Given the description of an element on the screen output the (x, y) to click on. 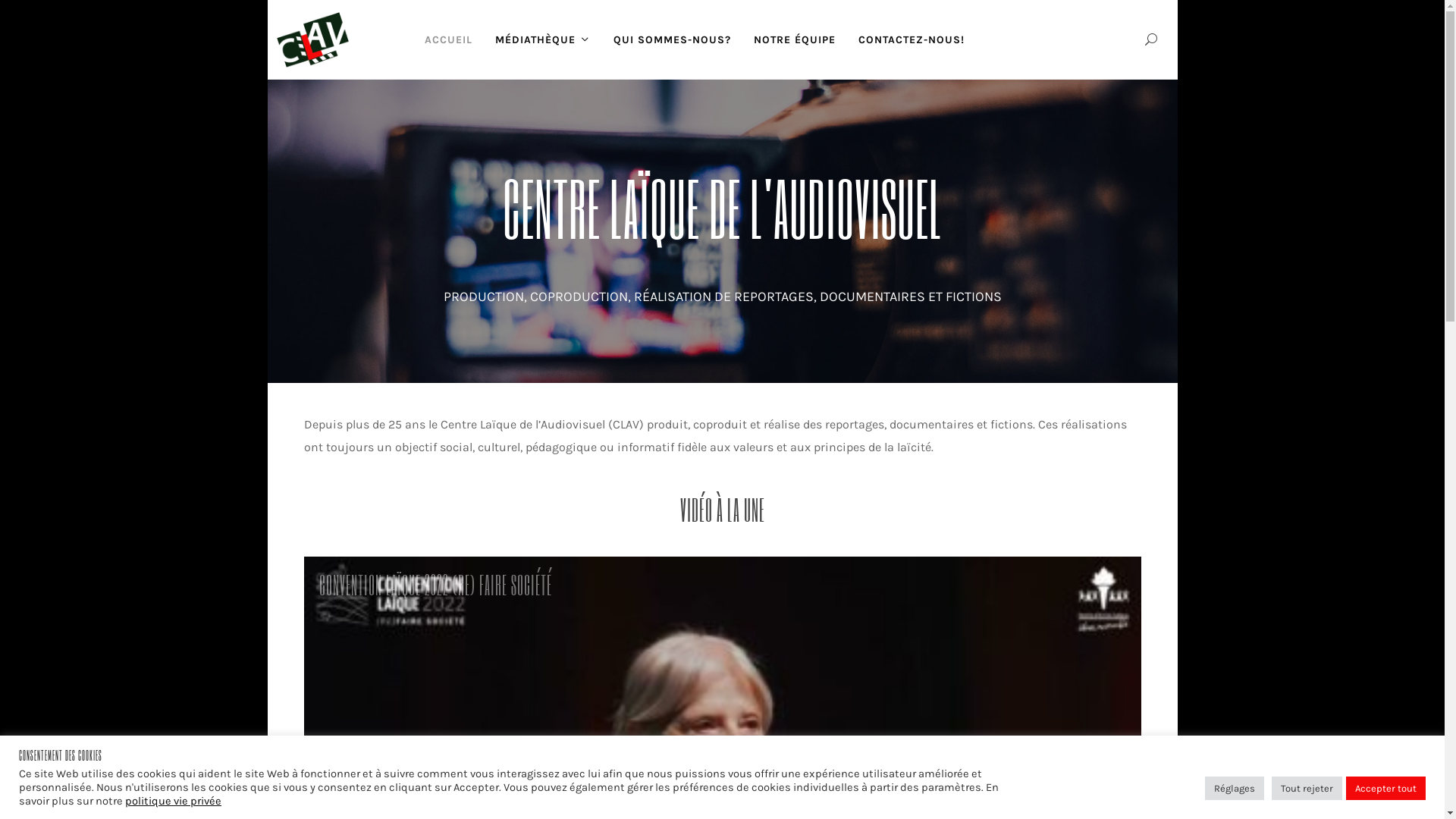
Accepter tout Element type: text (1385, 788)
CONTACTEZ-NOUS! Element type: text (910, 39)
Tout rejeter Element type: text (1306, 788)
ACCUEIL Element type: text (447, 39)
Search Element type: hover (1150, 39)
QUI SOMMES-NOUS? Element type: text (672, 39)
